Given the description of an element on the screen output the (x, y) to click on. 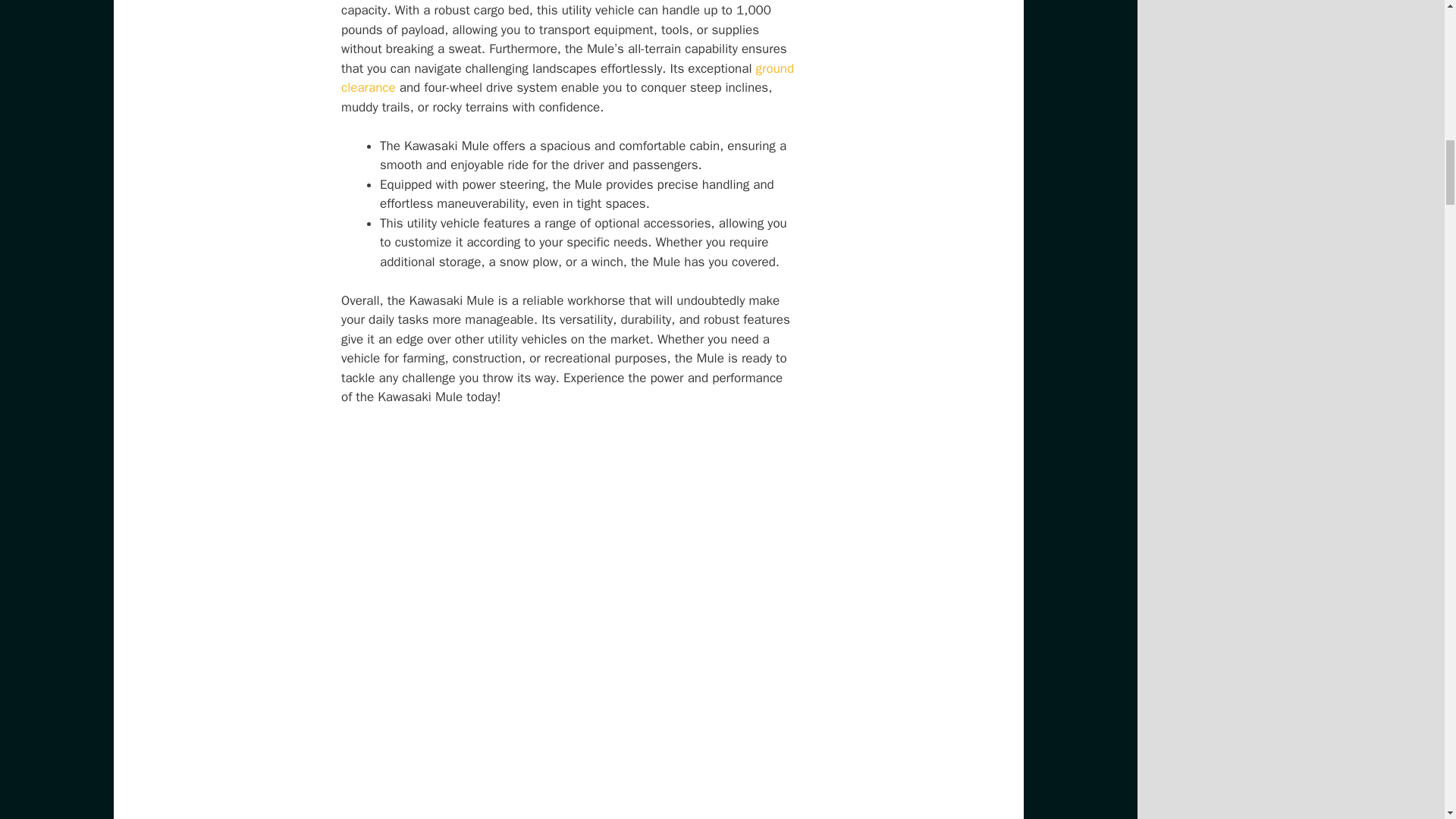
ground clearance (566, 78)
Decoding Motorcycle Handling: A Friendly Guide to Lowering (566, 78)
